Given the description of an element on the screen output the (x, y) to click on. 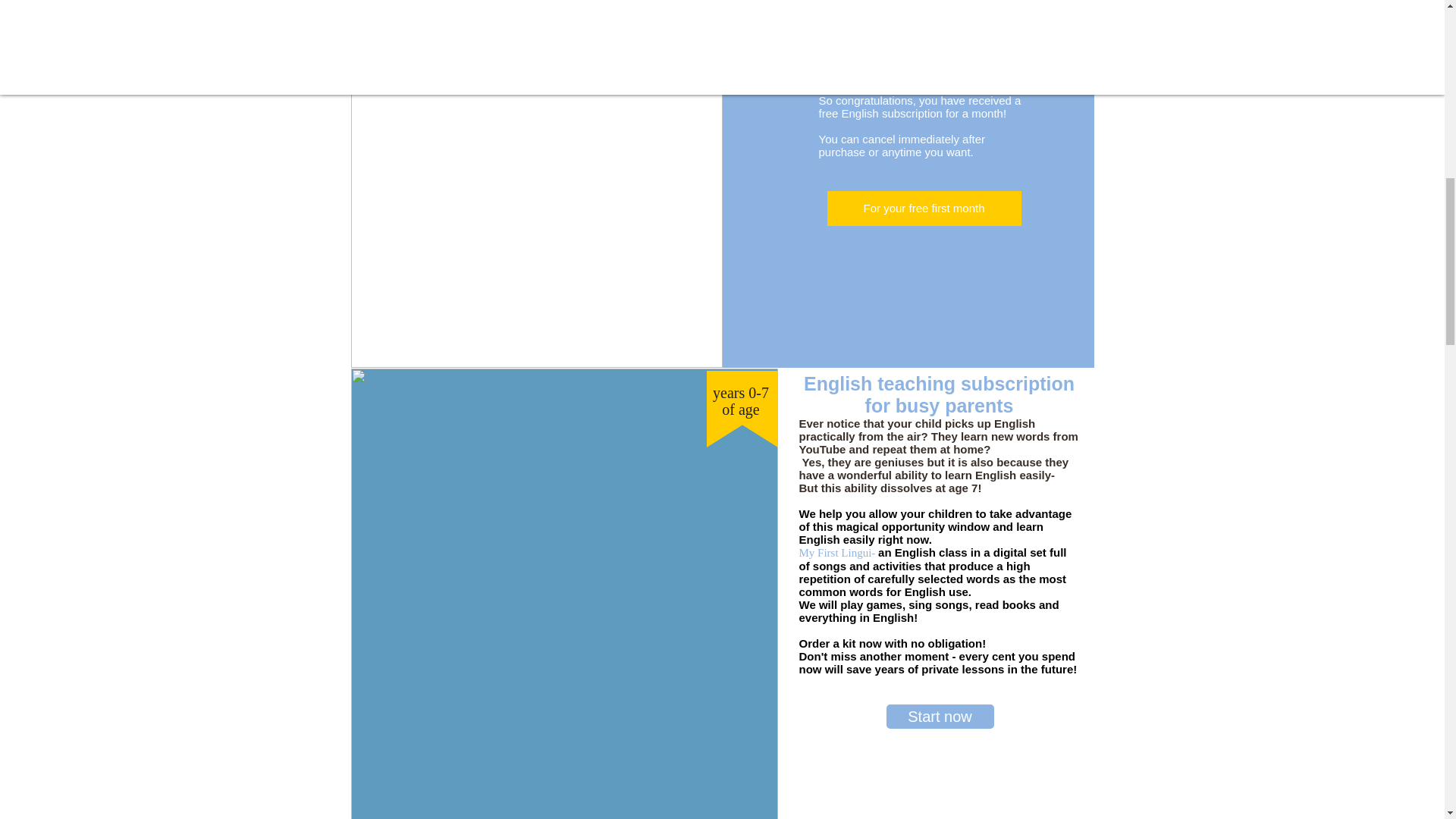
Start now (938, 716)
For your free first month (923, 208)
